Given the description of an element on the screen output the (x, y) to click on. 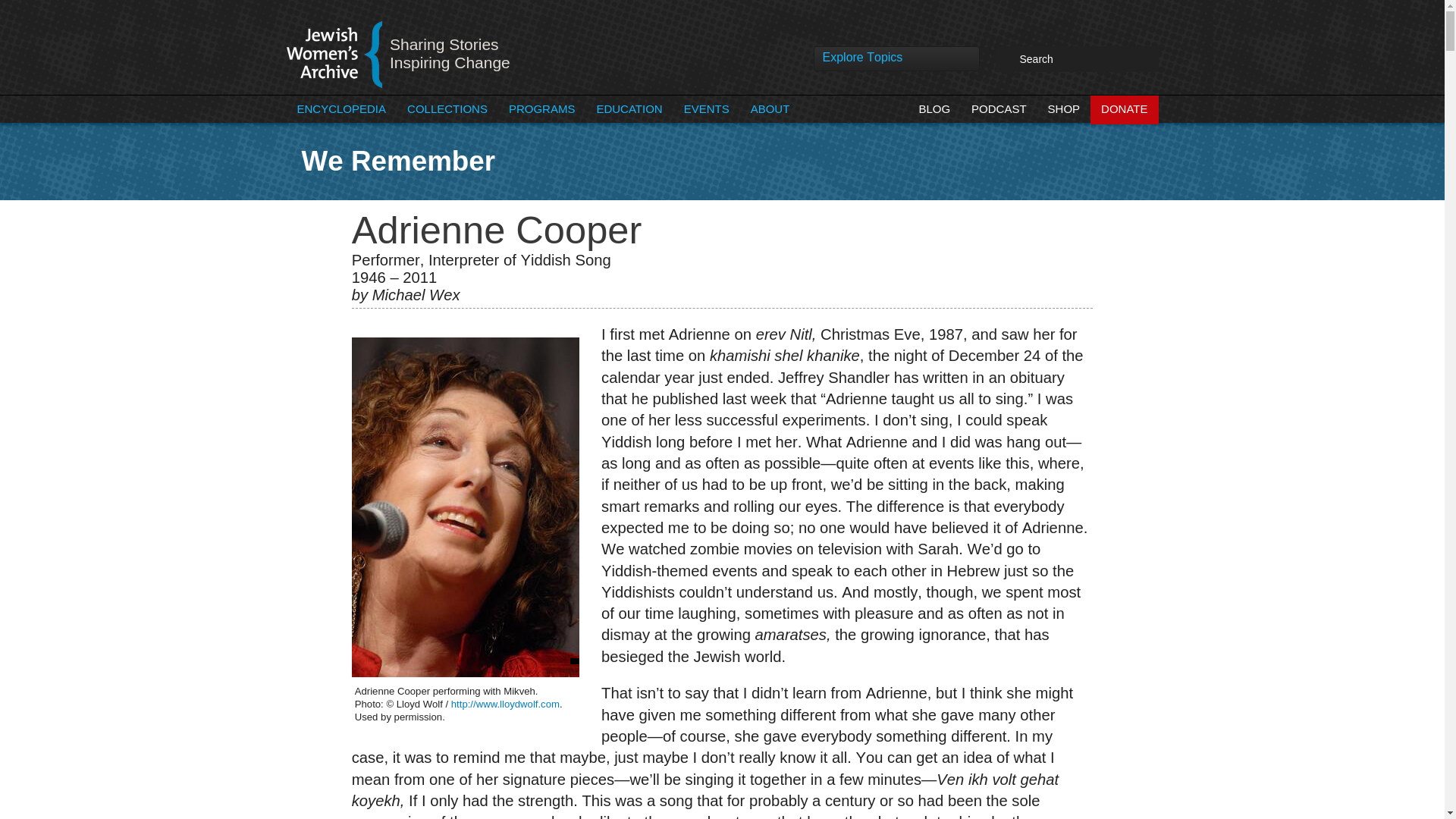
Explore Topics (895, 62)
Adrienne Cooper performing with Mikveh (465, 507)
